Given the description of an element on the screen output the (x, y) to click on. 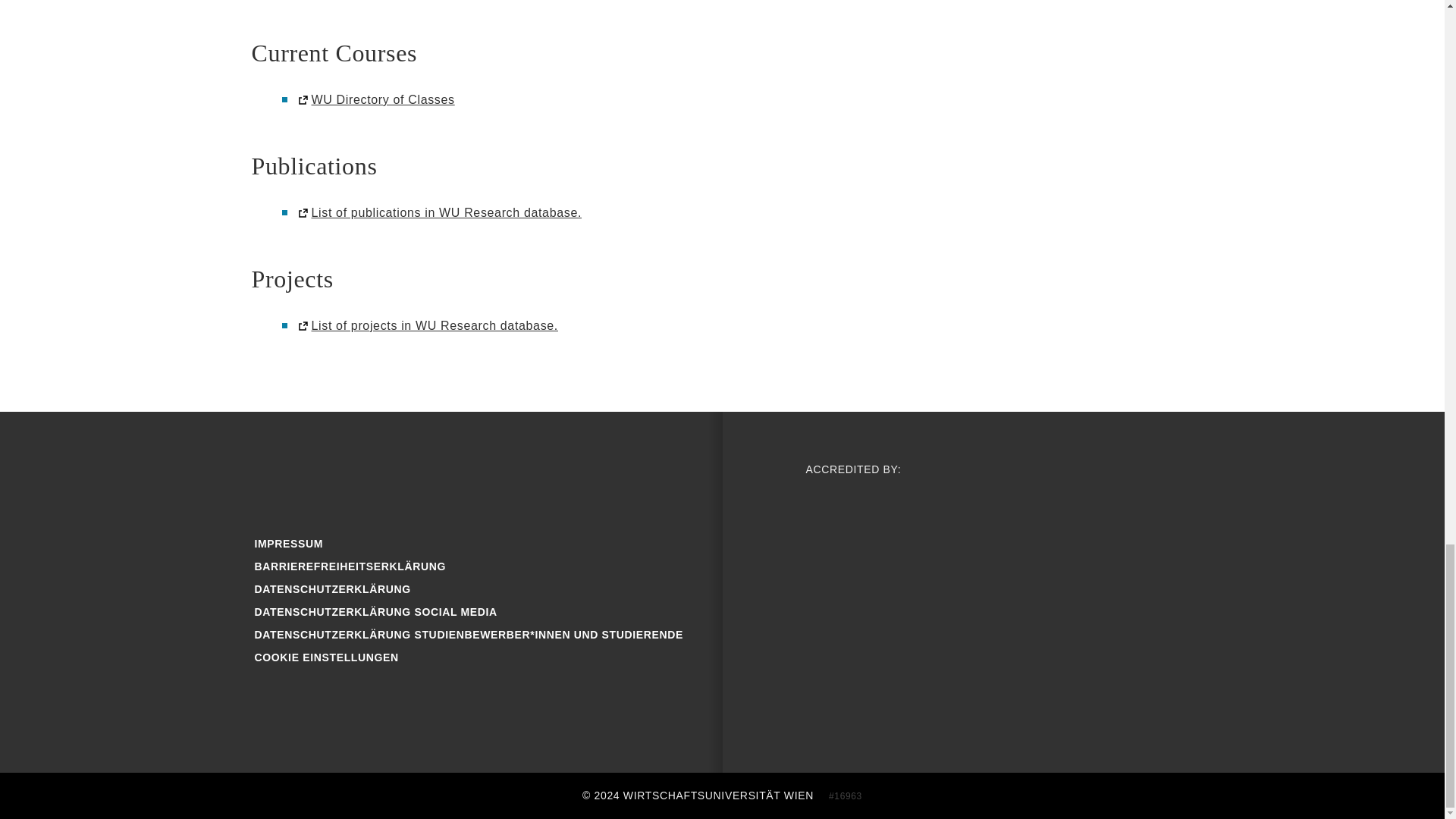
Instagram (324, 476)
Newsletter (572, 476)
Blog (374, 476)
Facebook (276, 476)
X (473, 476)
YouTube (423, 476)
LinkedIn (521, 476)
